Given the description of an element on the screen output the (x, y) to click on. 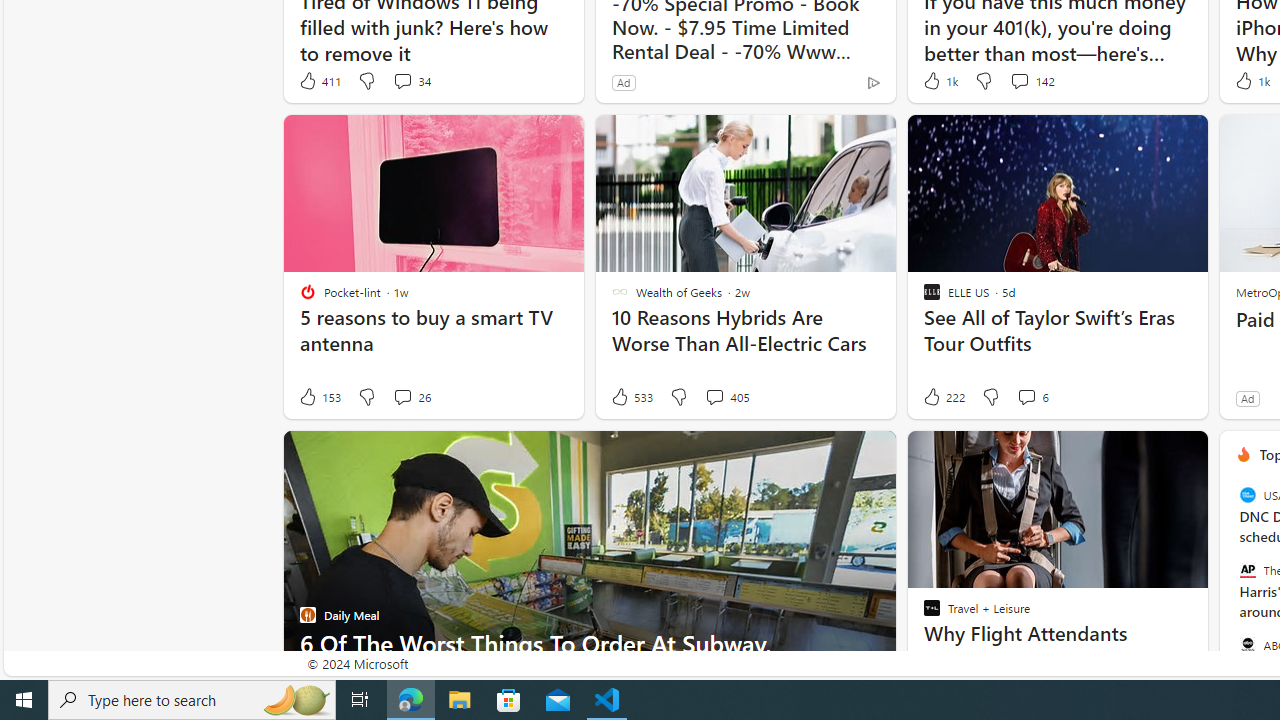
USA TODAY (1247, 494)
View comments 405 Comment (714, 396)
153 Like (319, 397)
View comments 142 Comment (1031, 80)
View comments 6 Comment (1032, 397)
View comments 405 Comment (726, 397)
Hide this story (1147, 454)
ABC News (1247, 644)
222 Like (942, 397)
View comments 6 Comment (1026, 396)
The Associated Press (1247, 570)
533 Like (630, 397)
View comments 26 Comment (402, 396)
View comments 34 Comment (402, 80)
